Given the description of an element on the screen output the (x, y) to click on. 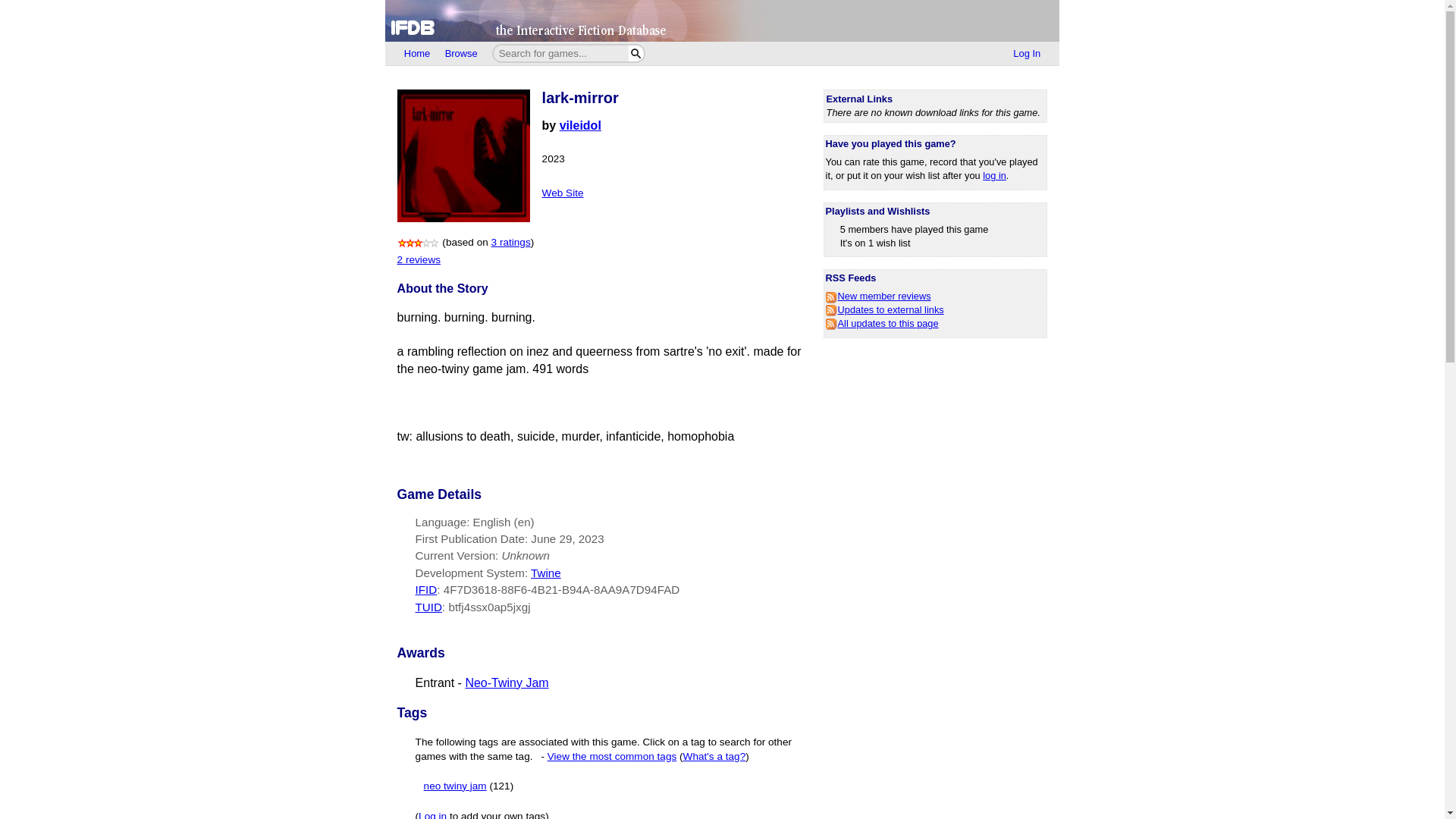
IFID (426, 589)
3 Stars (418, 243)
Log in (432, 814)
vileidol (580, 124)
log in (994, 174)
5 members have played this game (914, 229)
Twine (545, 572)
New member reviews (878, 296)
Search for games tagged with neo twiny jam (468, 785)
Log In (1027, 53)
neo twiny jam (454, 785)
What's a tag? (713, 756)
Updates to external links (884, 309)
2 reviews (419, 259)
All updates to this page (882, 323)
